Given the description of an element on the screen output the (x, y) to click on. 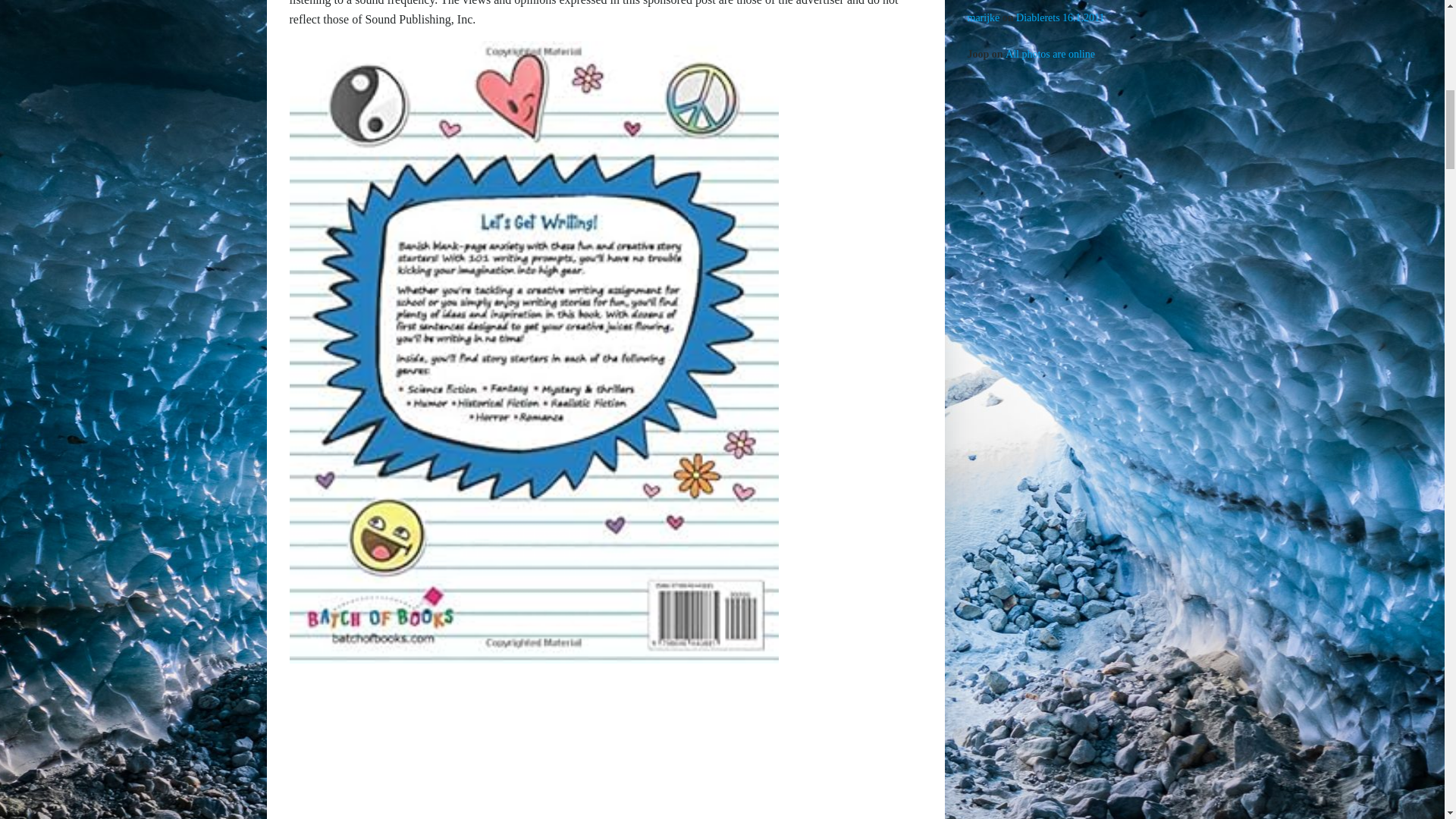
Diablerets 16.1.2011 (1060, 17)
All photos are online (1050, 53)
marijke (984, 17)
